Given the description of an element on the screen output the (x, y) to click on. 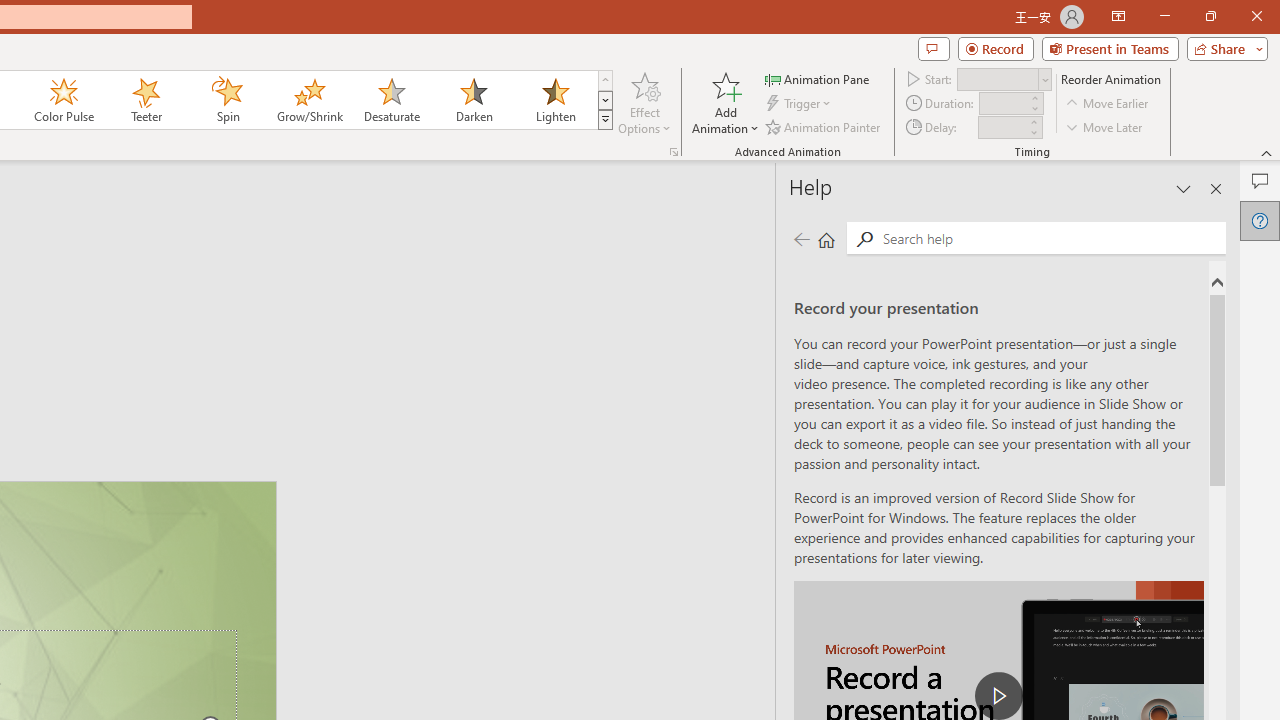
Add Animation (725, 102)
Color Pulse (63, 100)
Effect Options (644, 102)
Darken (473, 100)
Desaturate (391, 100)
Animation Pane (818, 78)
Animation Painter (824, 126)
Move Earlier (1107, 103)
